Given the description of an element on the screen output the (x, y) to click on. 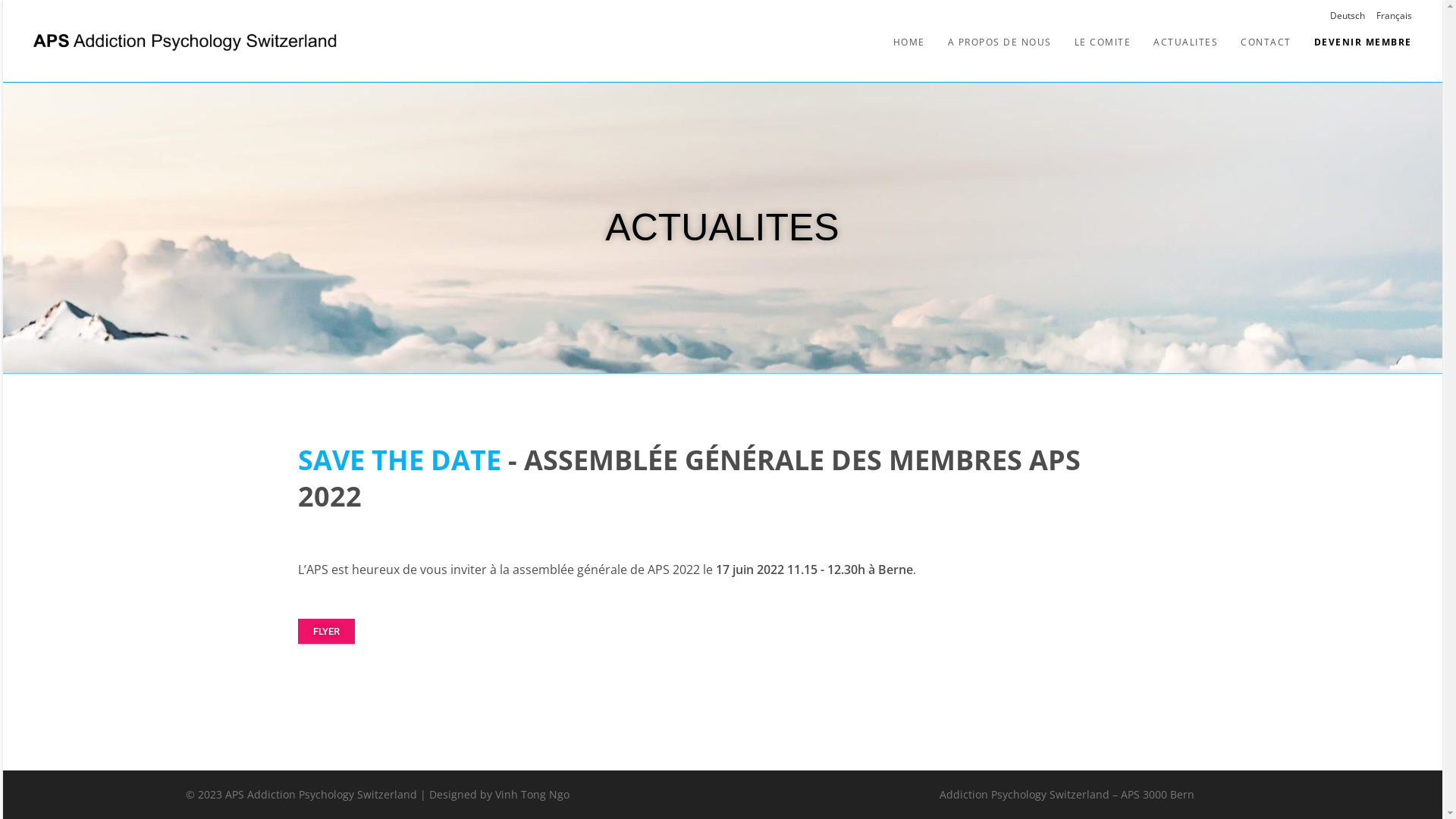
HOME Element type: text (908, 42)
ACTUALITES Element type: text (1185, 42)
CONTACT Element type: text (1265, 42)
Deutsch Element type: text (1347, 15)
FLYER Element type: text (325, 630)
A PROPOS DE NOUS Element type: text (998, 42)
LE COMITE Element type: text (1102, 42)
DEVENIR MEMBRE Element type: text (1362, 42)
